Given the description of an element on the screen output the (x, y) to click on. 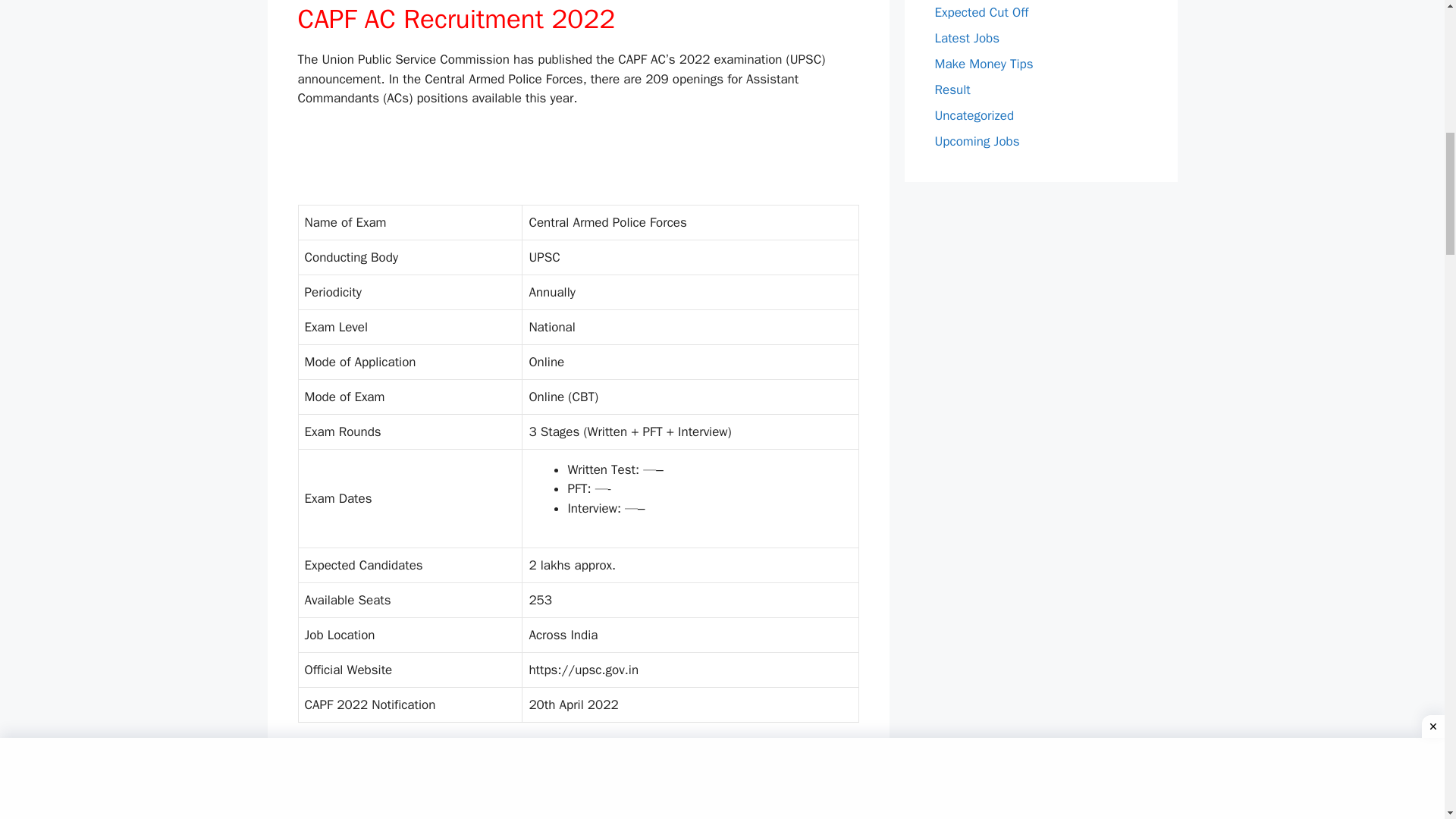
Expected Cut Off (980, 12)
